Given the description of an element on the screen output the (x, y) to click on. 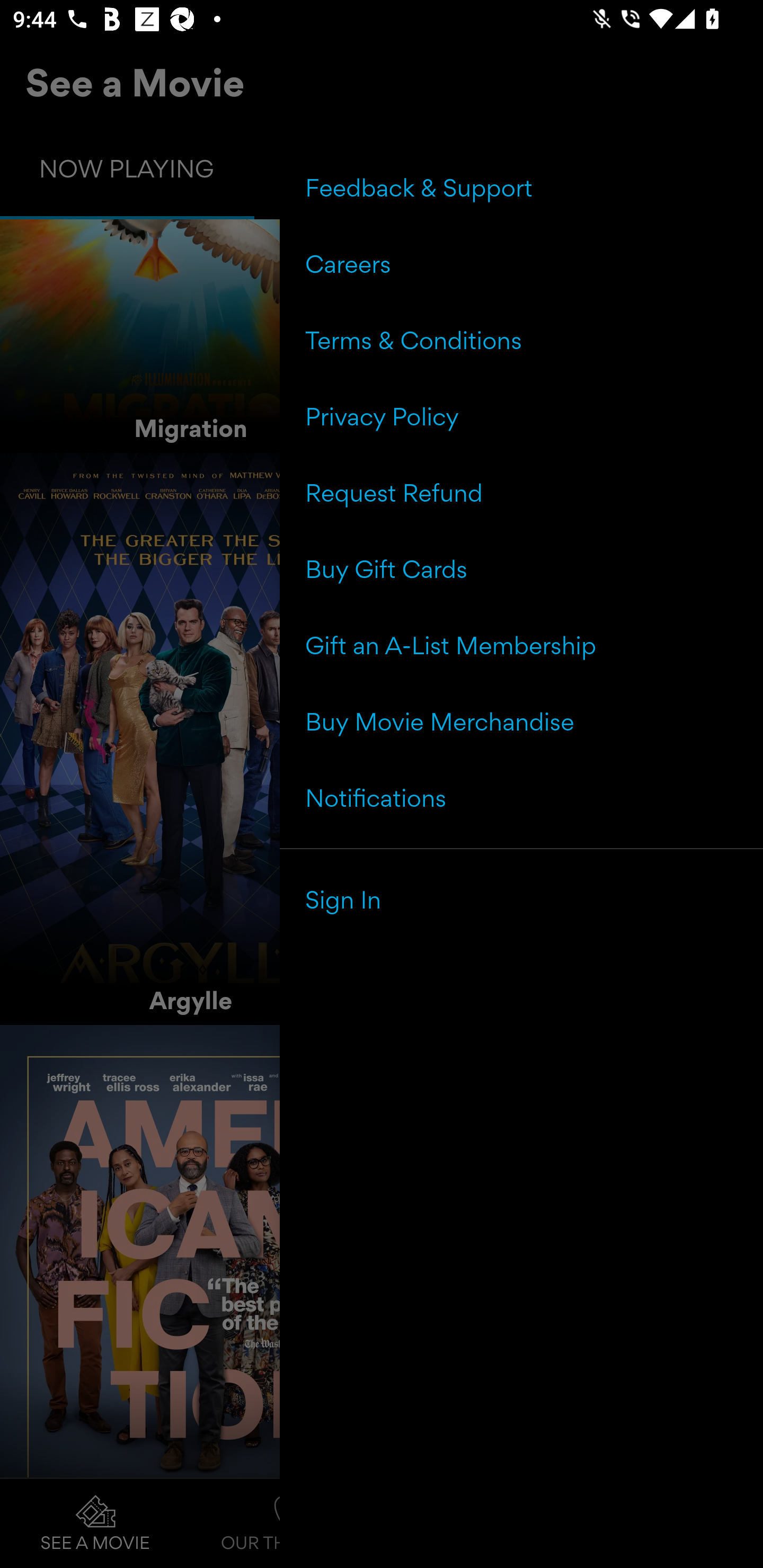
Feedback & Support (521, 186)
Careers (521, 263)
Terms & Conditions (521, 339)
Privacy Policy (521, 415)
Request Refund (521, 492)
Buy Gift Cards (521, 568)
Gift an A-List Membership (521, 644)
Buy Movie Merchandise (521, 720)
Notifications (521, 796)
Sign In (521, 898)
